Given the description of an element on the screen output the (x, y) to click on. 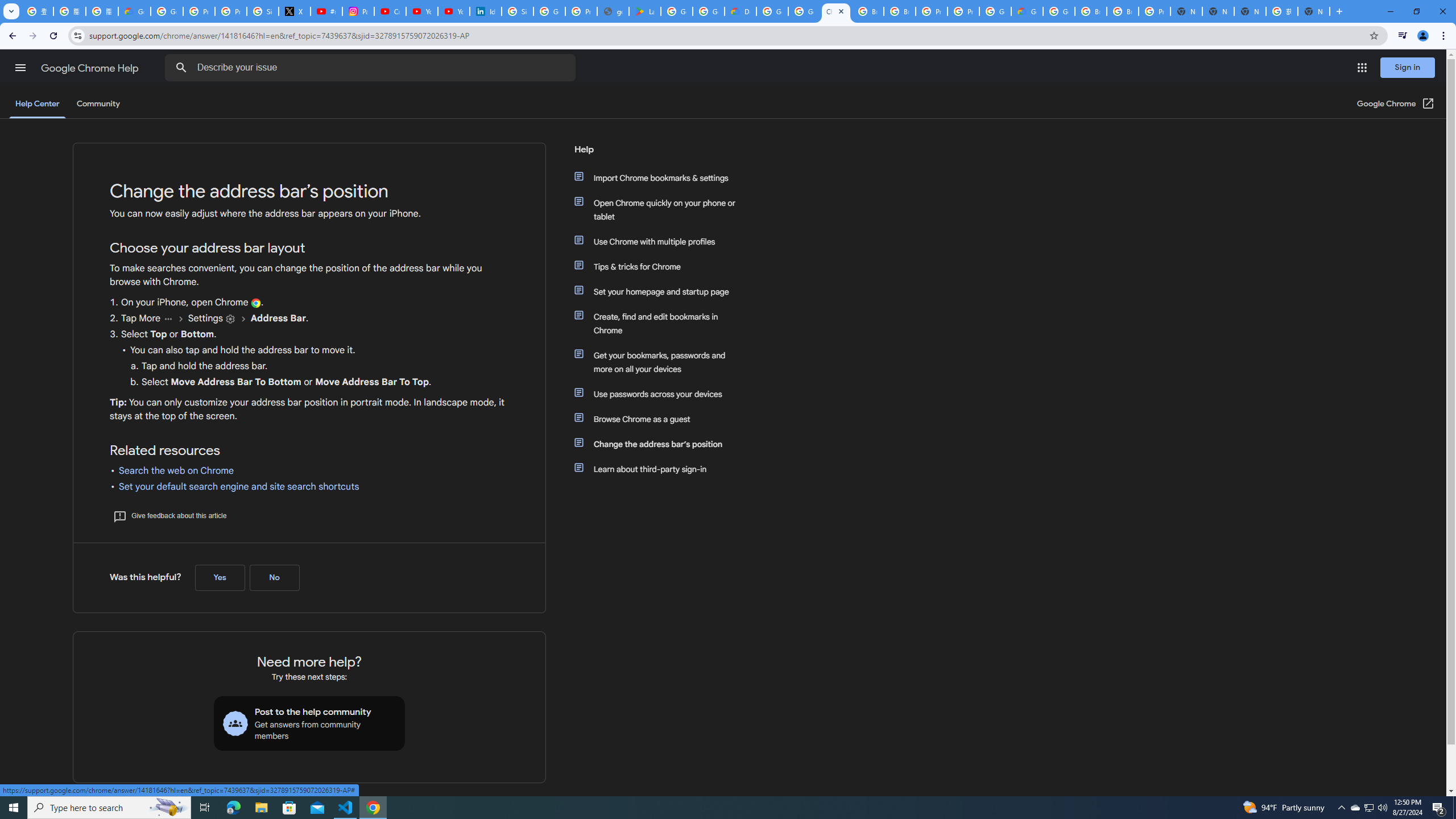
X (294, 11)
Create, find and edit bookmarks in Chrome (661, 323)
Search the web on Chrome (176, 470)
Browse Chrome as a guest - Computer - Google Chrome Help (1123, 11)
and then (242, 318)
New Tab (1185, 11)
